Given the description of an element on the screen output the (x, y) to click on. 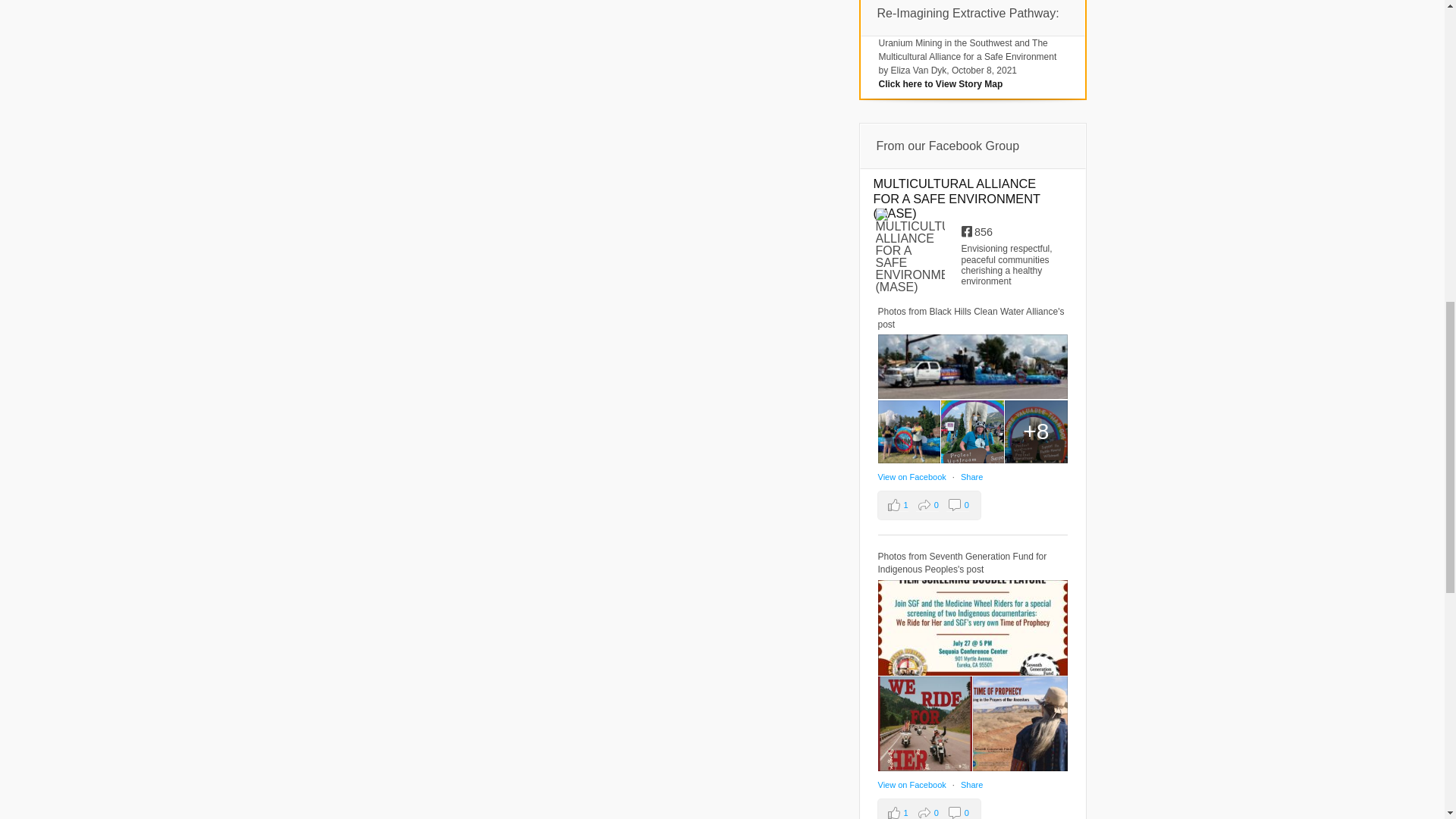
Share (971, 784)
View on Facebook (913, 476)
View on Facebook (913, 784)
Share (971, 476)
